Given the description of an element on the screen output the (x, y) to click on. 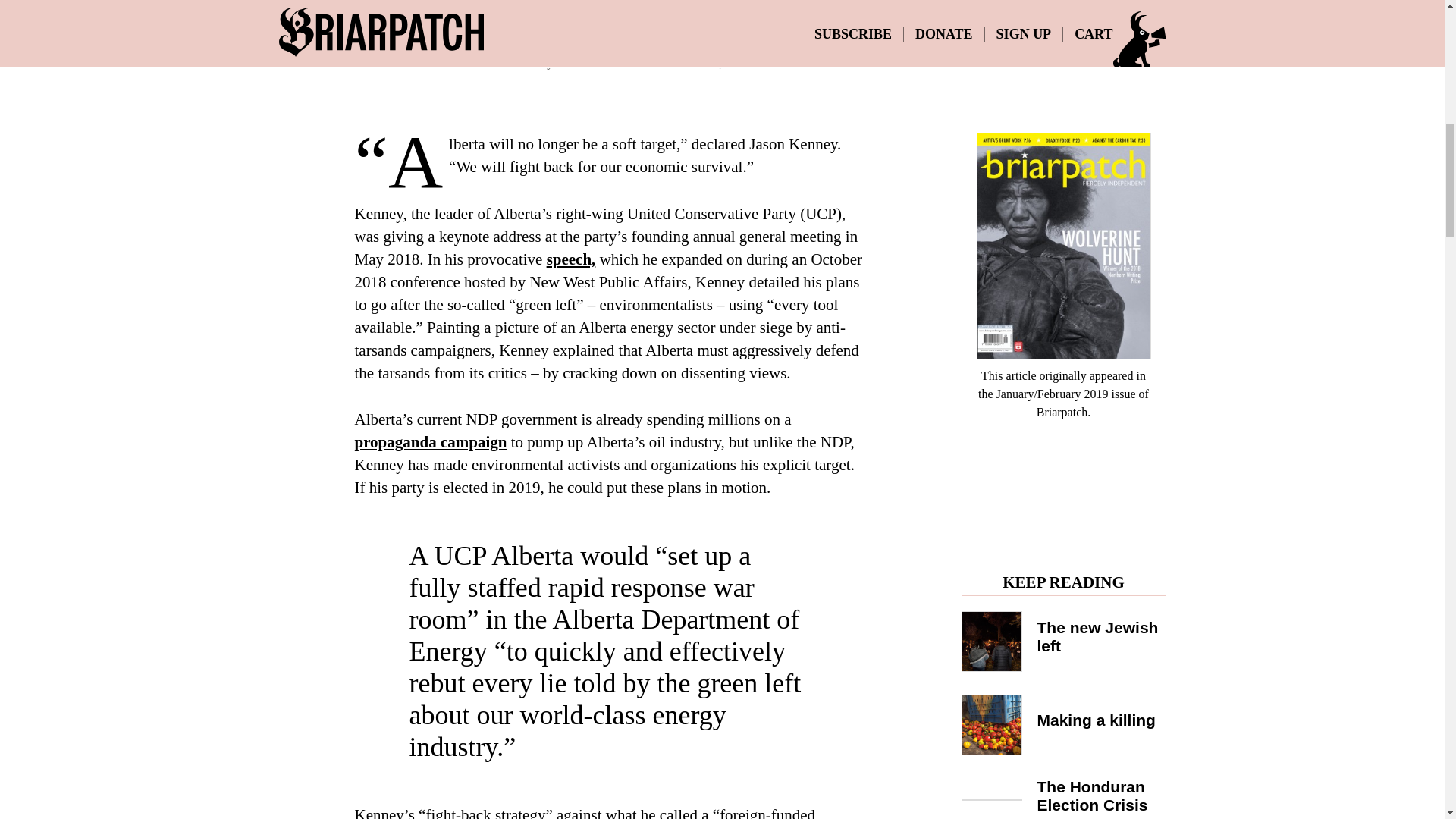
propaganda campaign (430, 442)
Michael Bueckert (605, 61)
speech, (571, 259)
